Given the description of an element on the screen output the (x, y) to click on. 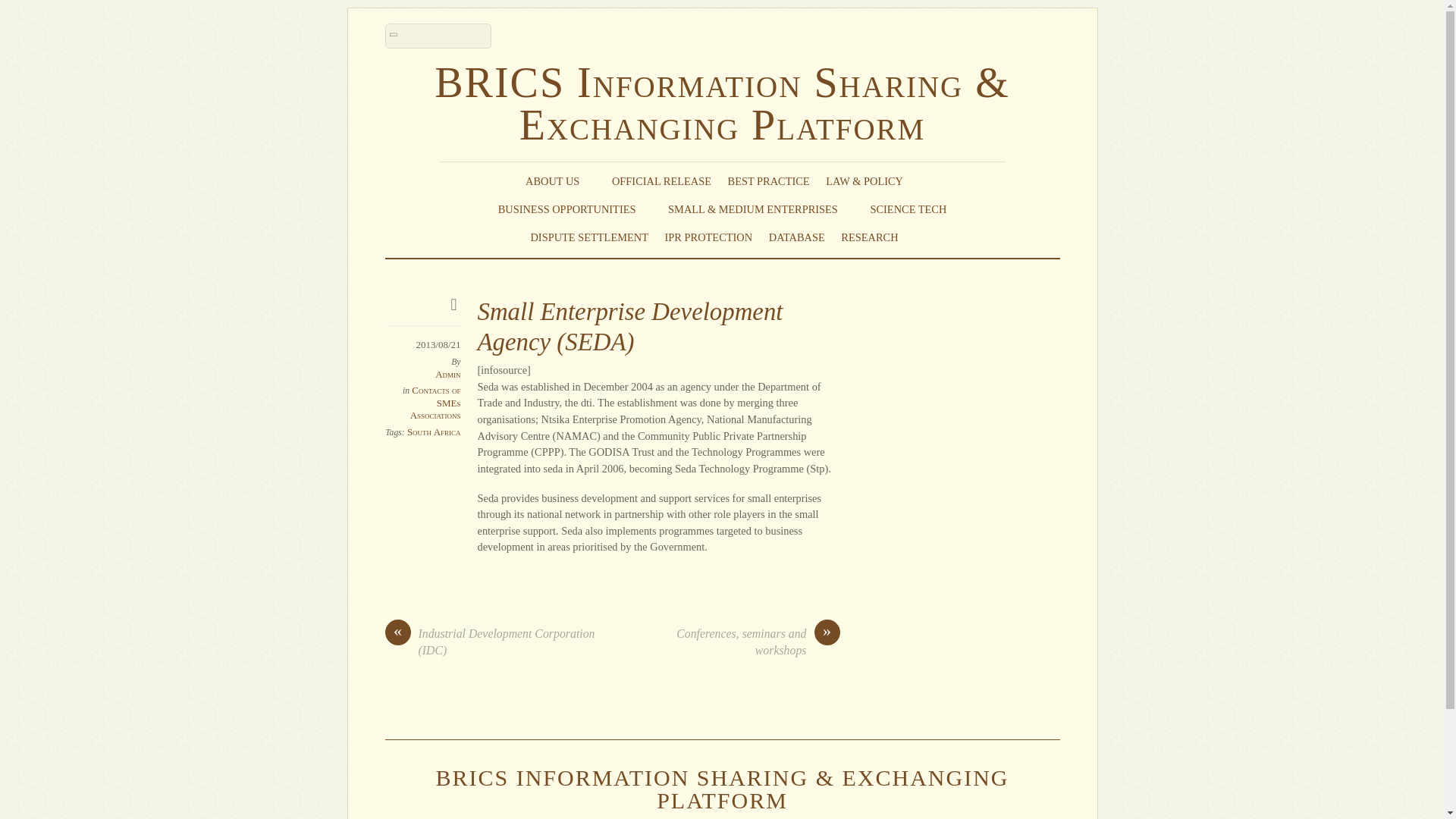
OFFICIAL RELEASE (661, 180)
IPR PROTECTION (709, 237)
Search (438, 35)
South Africa (434, 431)
ABOUT US (559, 180)
DATABASE (796, 237)
BUSINESS OPPORTUNITIES (575, 209)
Admin (447, 374)
DISPUTE SETTLEMENT (588, 237)
BEST PRACTICE (768, 180)
Contacts of SMEs Associations (435, 402)
RESEARCH (877, 237)
SCIENCE TECH (908, 209)
